Given the description of an element on the screen output the (x, y) to click on. 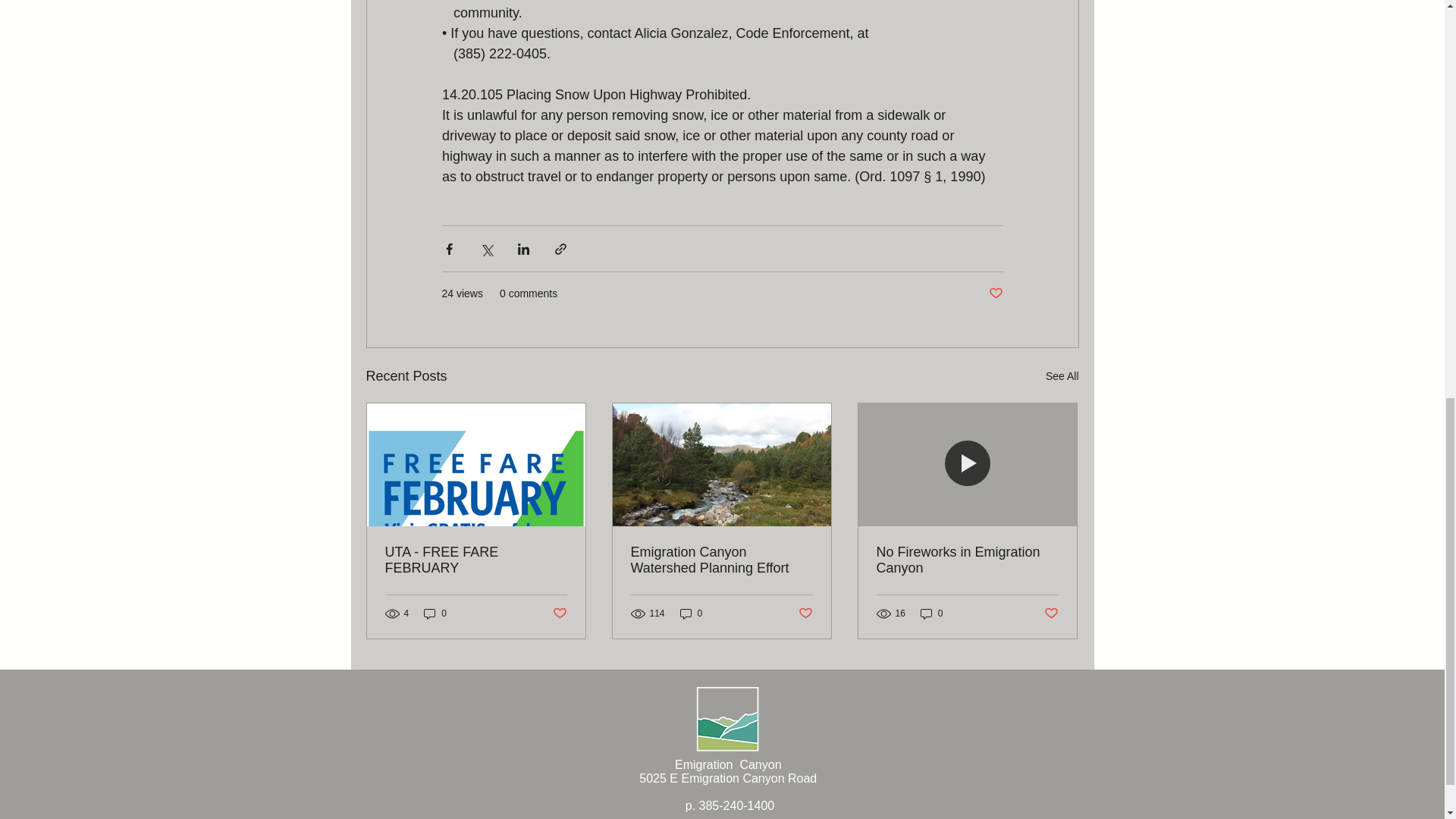
UTA - FREE FARE FEBRUARY (476, 560)
Post not marked as liked (558, 613)
0 (931, 613)
Emigration Canyon Watershed Planning Effort (721, 560)
Post not marked as liked (995, 293)
Post not marked as liked (1050, 613)
See All (1061, 376)
Post not marked as liked (804, 613)
0 (691, 613)
0 (435, 613)
